Given the description of an element on the screen output the (x, y) to click on. 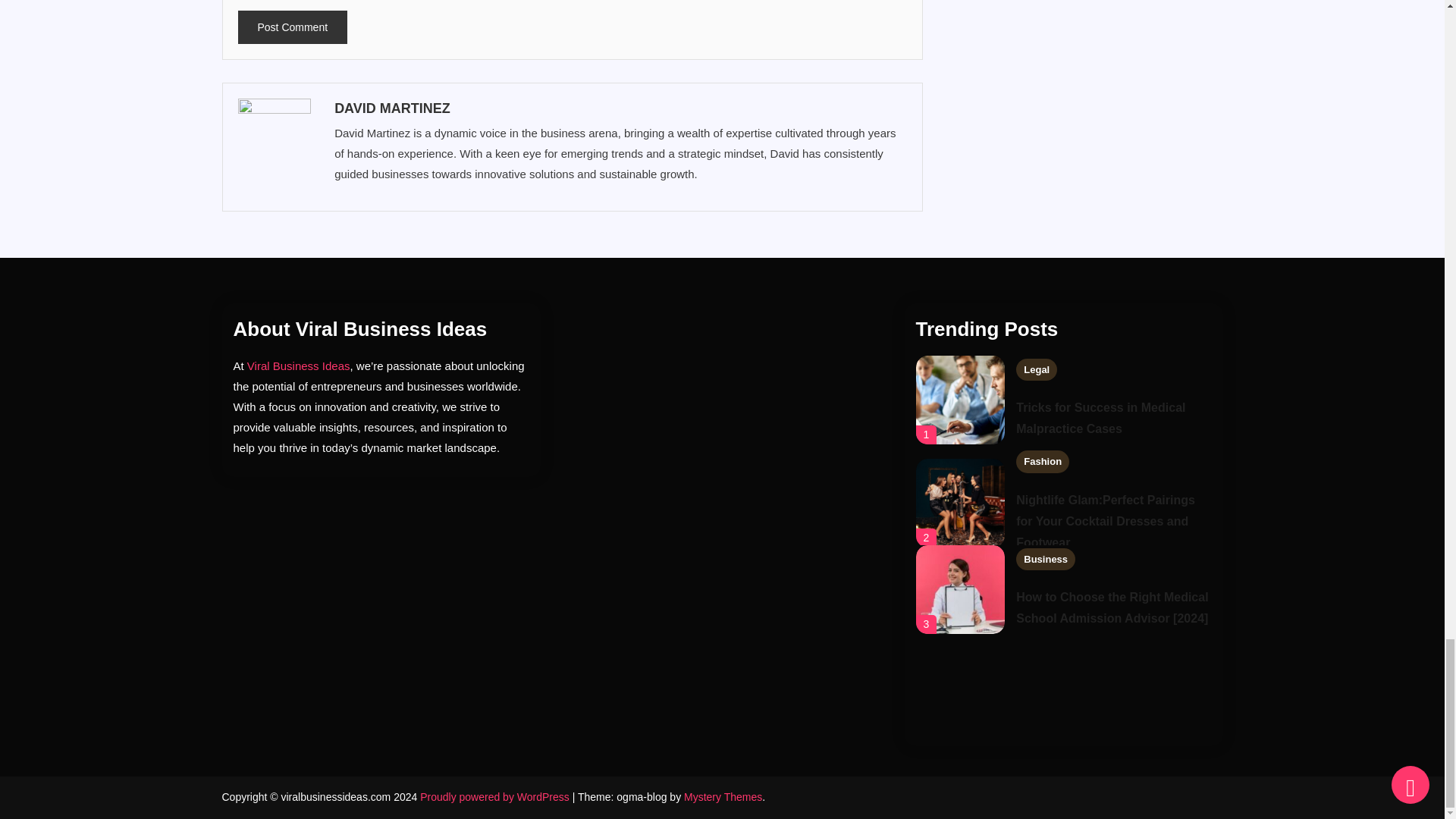
Post Comment (292, 27)
Post Comment (292, 27)
Posts by David Martinez (618, 108)
DAVID MARTINEZ (618, 108)
